Given the description of an element on the screen output the (x, y) to click on. 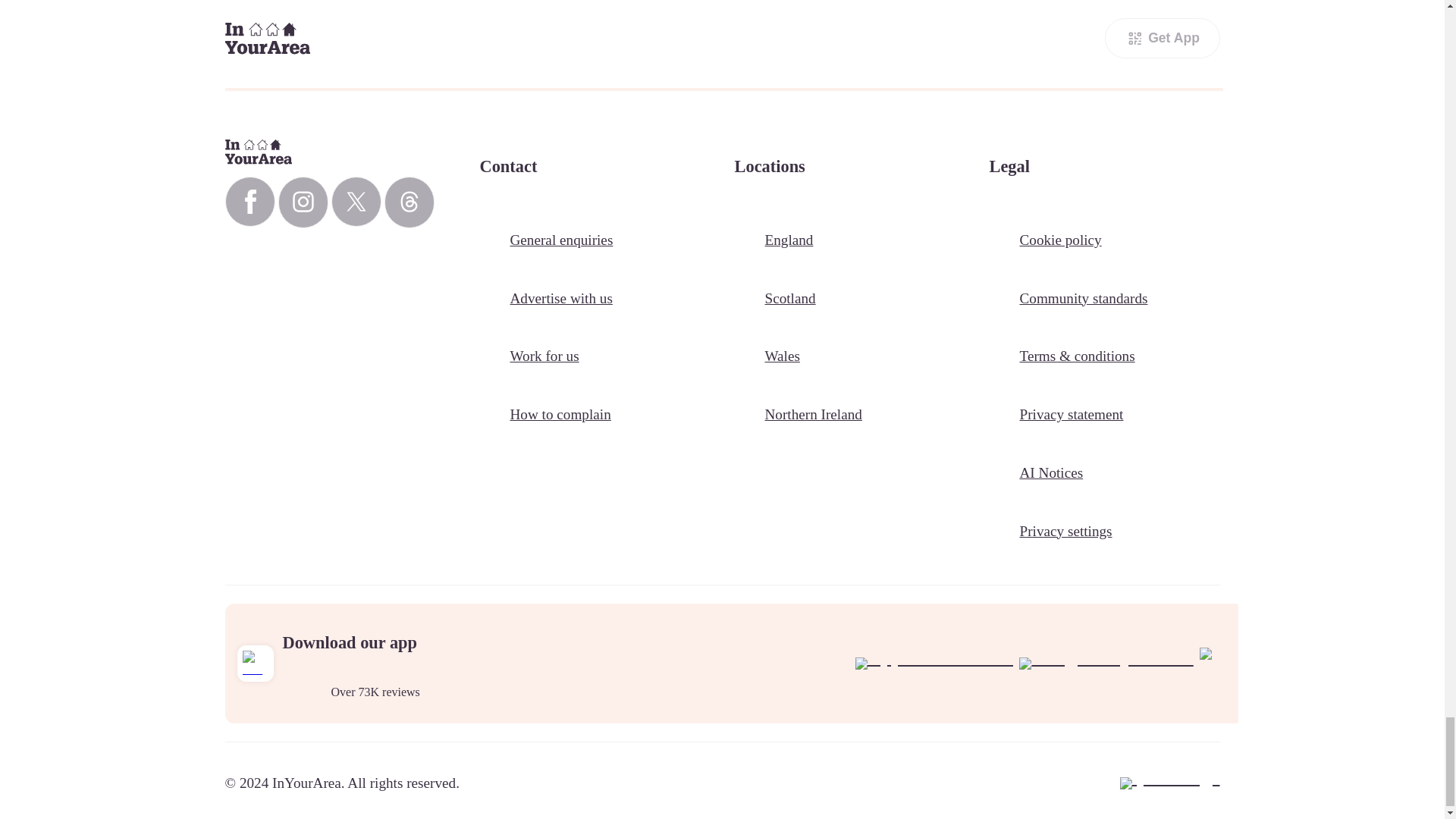
InYourArea Facebook (249, 201)
InYourArea Threads (408, 202)
InYourArea Instagram (302, 202)
InYourArea X (355, 201)
